Given the description of an element on the screen output the (x, y) to click on. 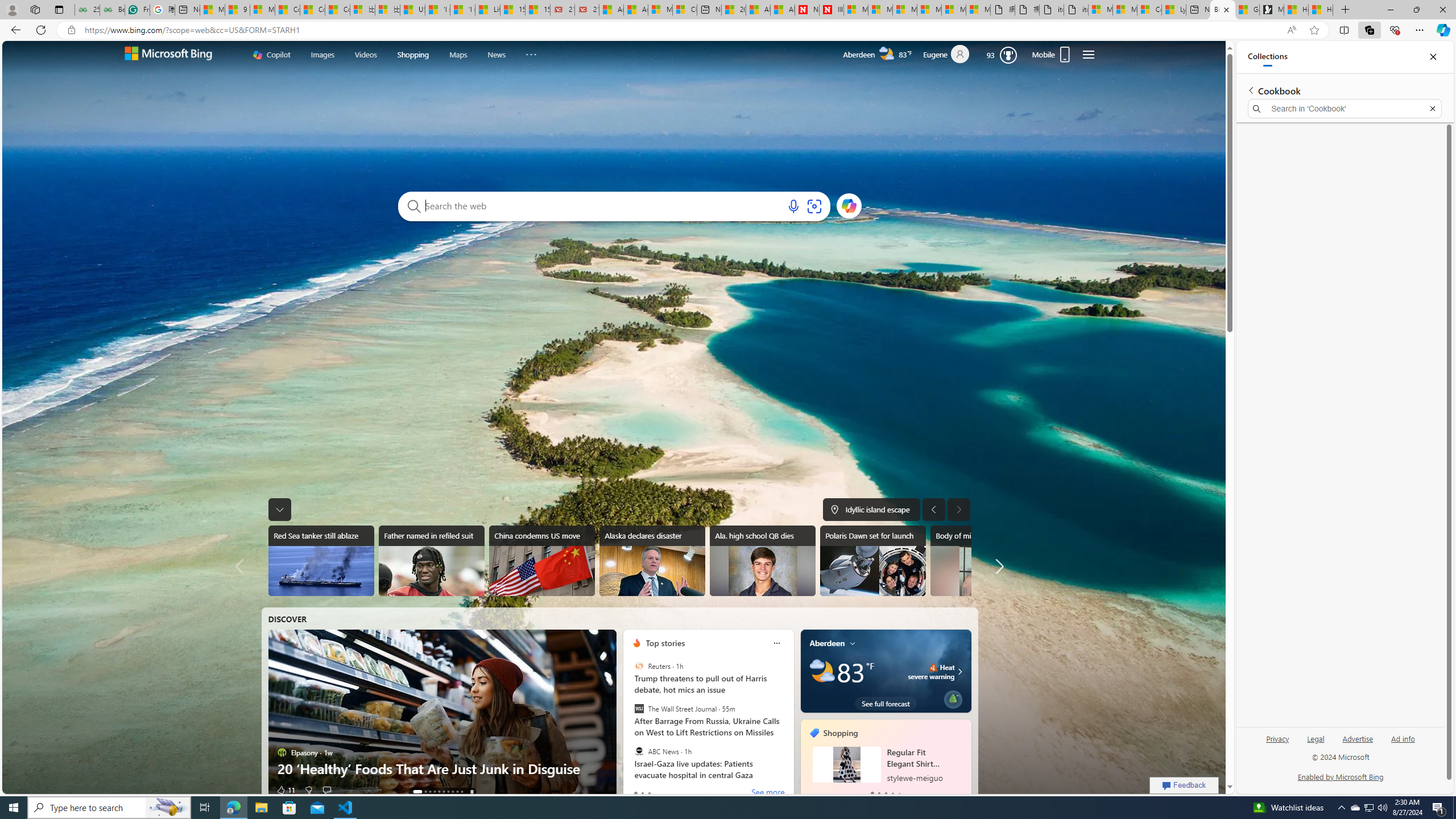
tab-1 (878, 793)
Maps (458, 54)
My location (853, 643)
Search in 'Cookbook' (1345, 108)
tab-2 (885, 793)
Red Sea tanker still ablaze (320, 560)
Search using an image (813, 205)
85 Like (284, 789)
Class: eplant-bubble (952, 699)
Class: eplant-img (952, 697)
Newsweek - News, Analysis, Politics, Business, Technology (807, 9)
Father named in refiled suit (431, 560)
